Given the description of an element on the screen output the (x, y) to click on. 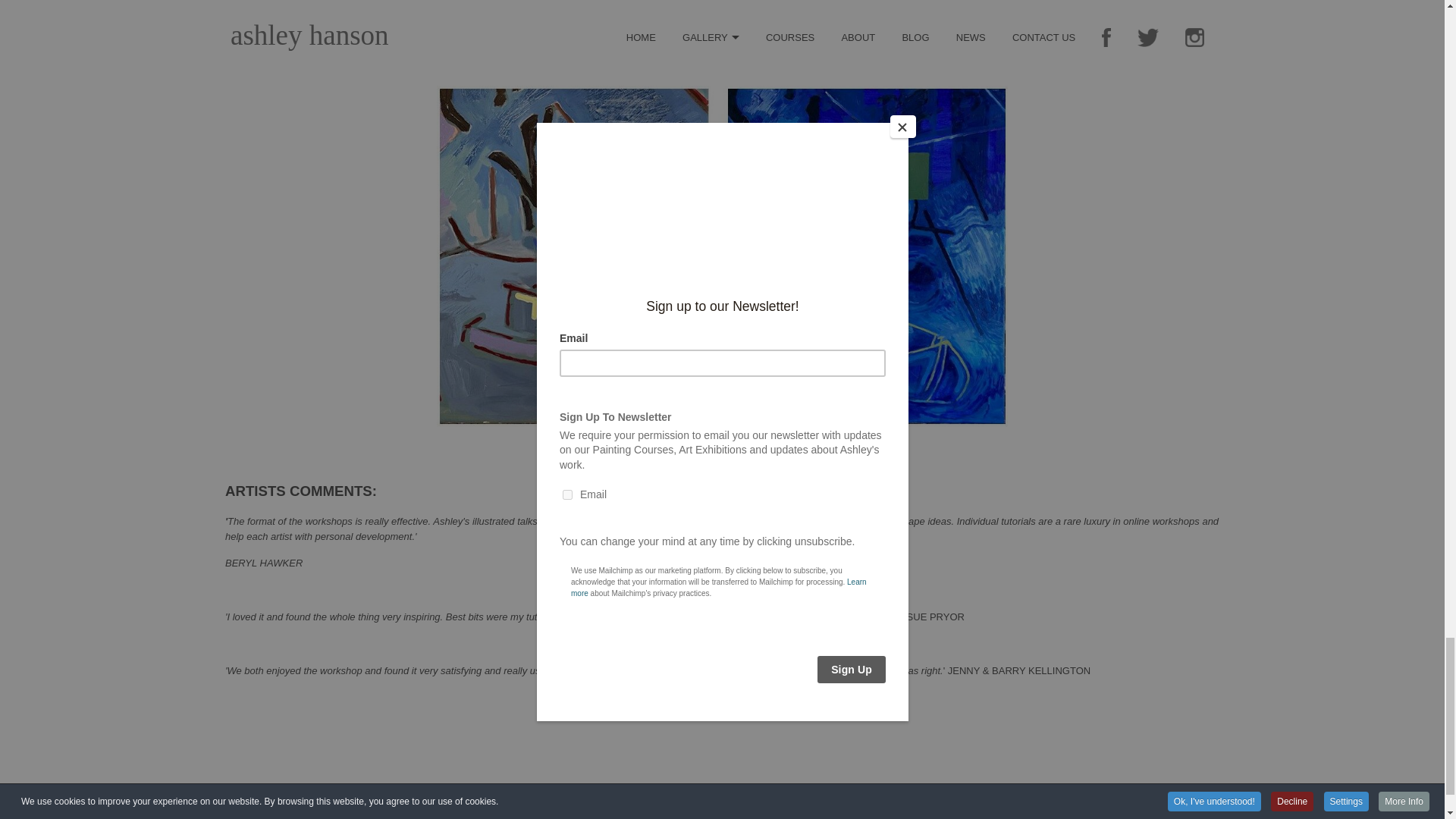
Copyright Statement (468, 813)
Book a Course (642, 813)
Newsletter Archive (560, 813)
Testimonials (709, 813)
